Given the description of an element on the screen output the (x, y) to click on. 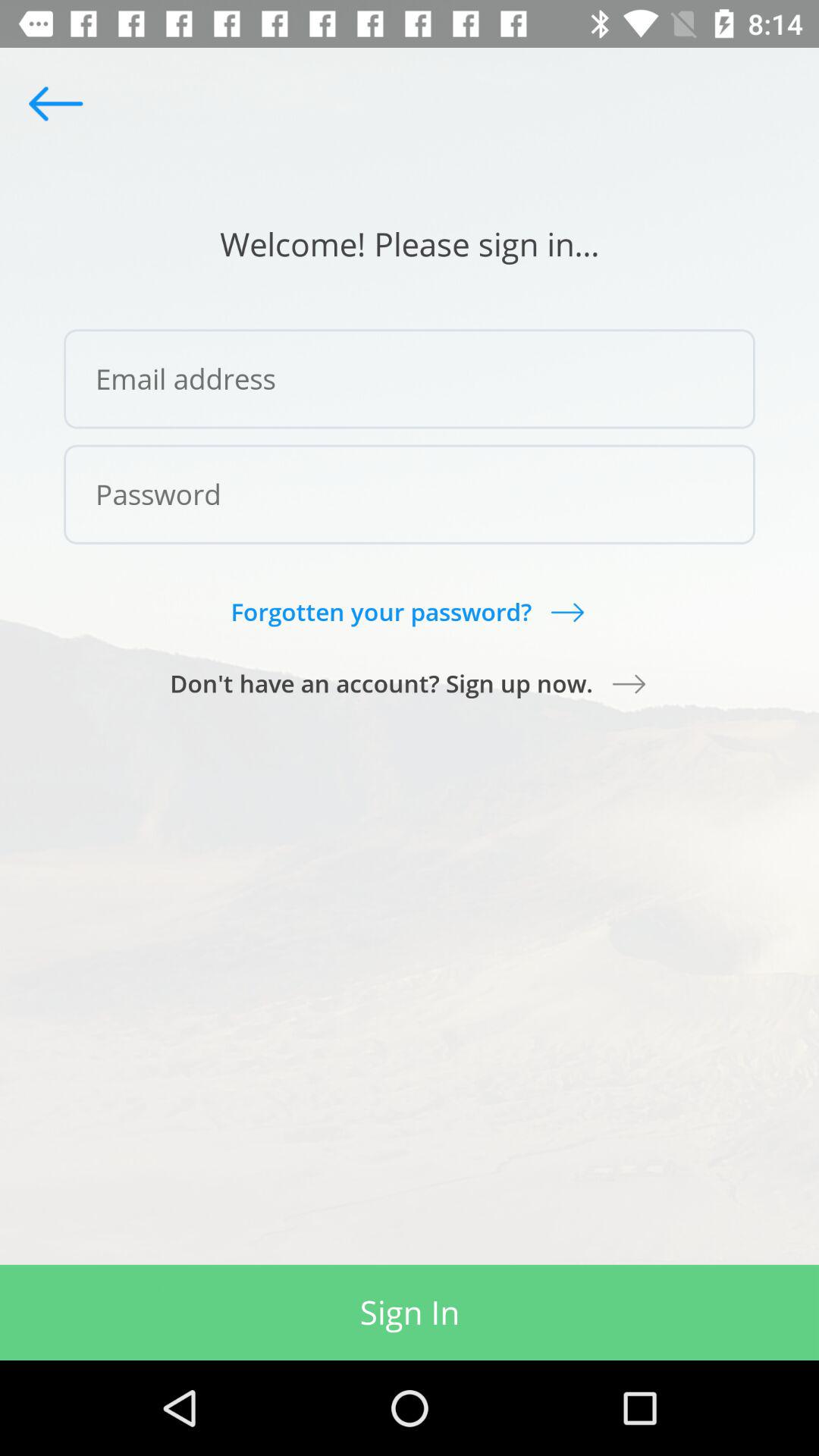
choose don t have icon (409, 683)
